Given the description of an element on the screen output the (x, y) to click on. 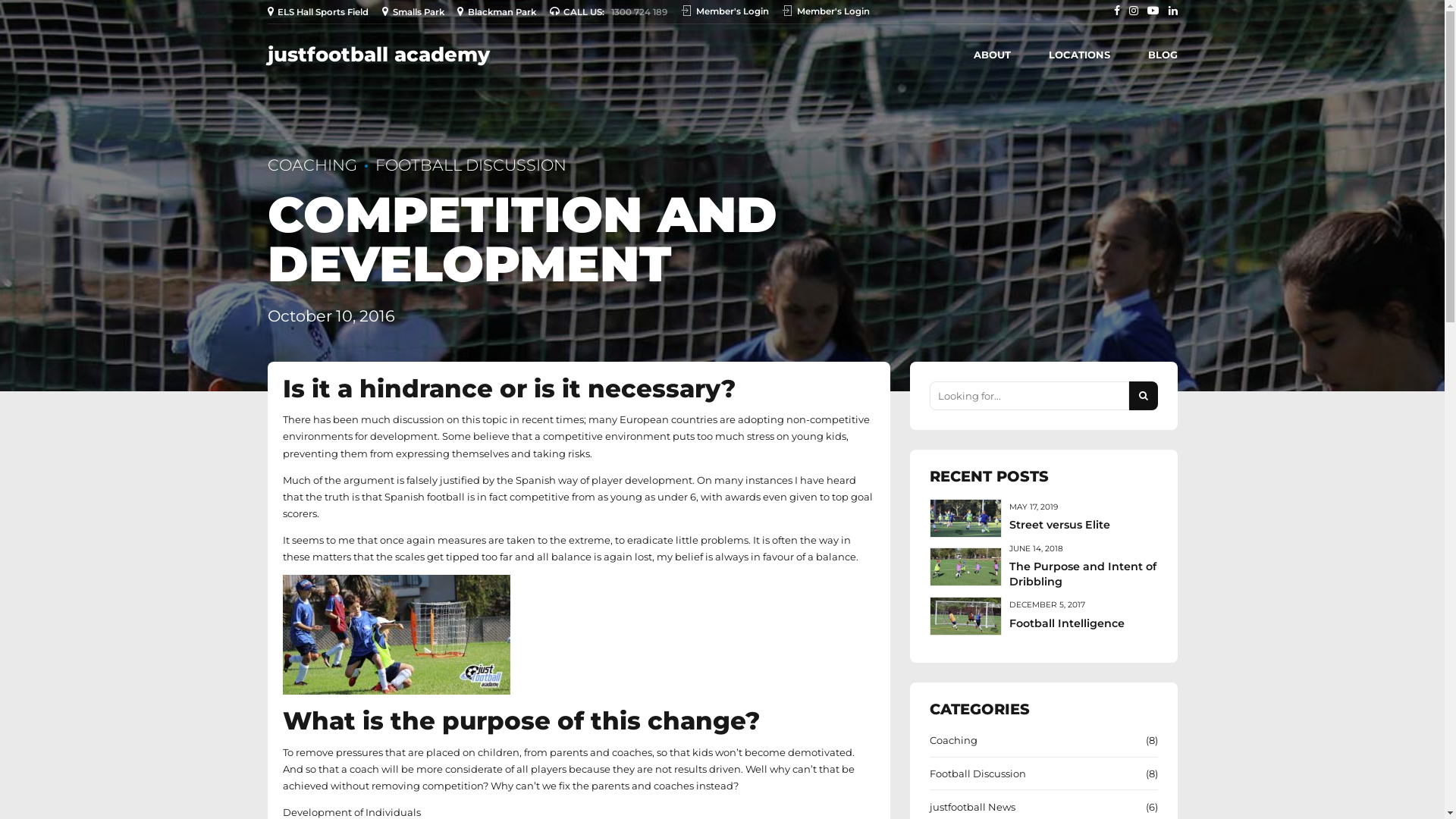
Member's Login Element type: text (726, 11)
Football Intelligence Element type: text (1066, 623)
Coaching Element type: text (953, 739)
COACHING Element type: text (311, 164)
Football Discussion Element type: text (977, 773)
justfootball News Element type: text (972, 806)
ELS Hall Sports Field Element type: text (319, 11)
CALL US: 1300 724 189 Element type: text (610, 11)
Street versus Elite Element type: text (1059, 524)
ABOUT Element type: text (991, 54)
coaches Element type: text (631, 752)
FOOTBALL DISCUSSION Element type: text (460, 164)
Blackman Park Element type: text (498, 11)
justfootball academy Element type: text (377, 54)
LOCATIONS Element type: text (1078, 54)
Smalls Park Element type: text (415, 11)
BLOG Element type: text (1162, 54)
Member's Login Element type: text (827, 11)
The Purpose and Intent of Dribbling Element type: text (1082, 573)
